Given the description of an element on the screen output the (x, y) to click on. 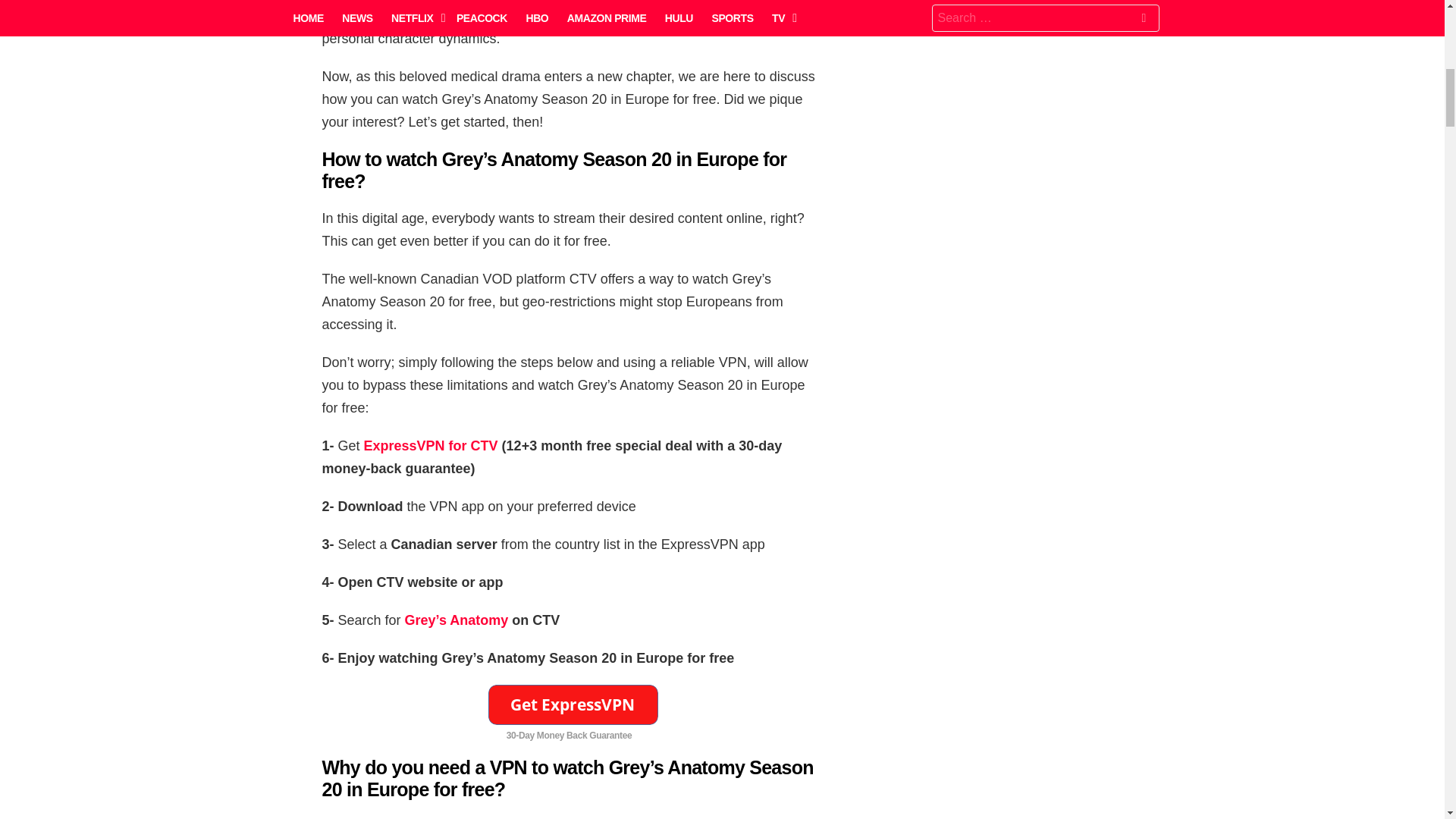
ExpressVPN for CTV (430, 445)
